Given the description of an element on the screen output the (x, y) to click on. 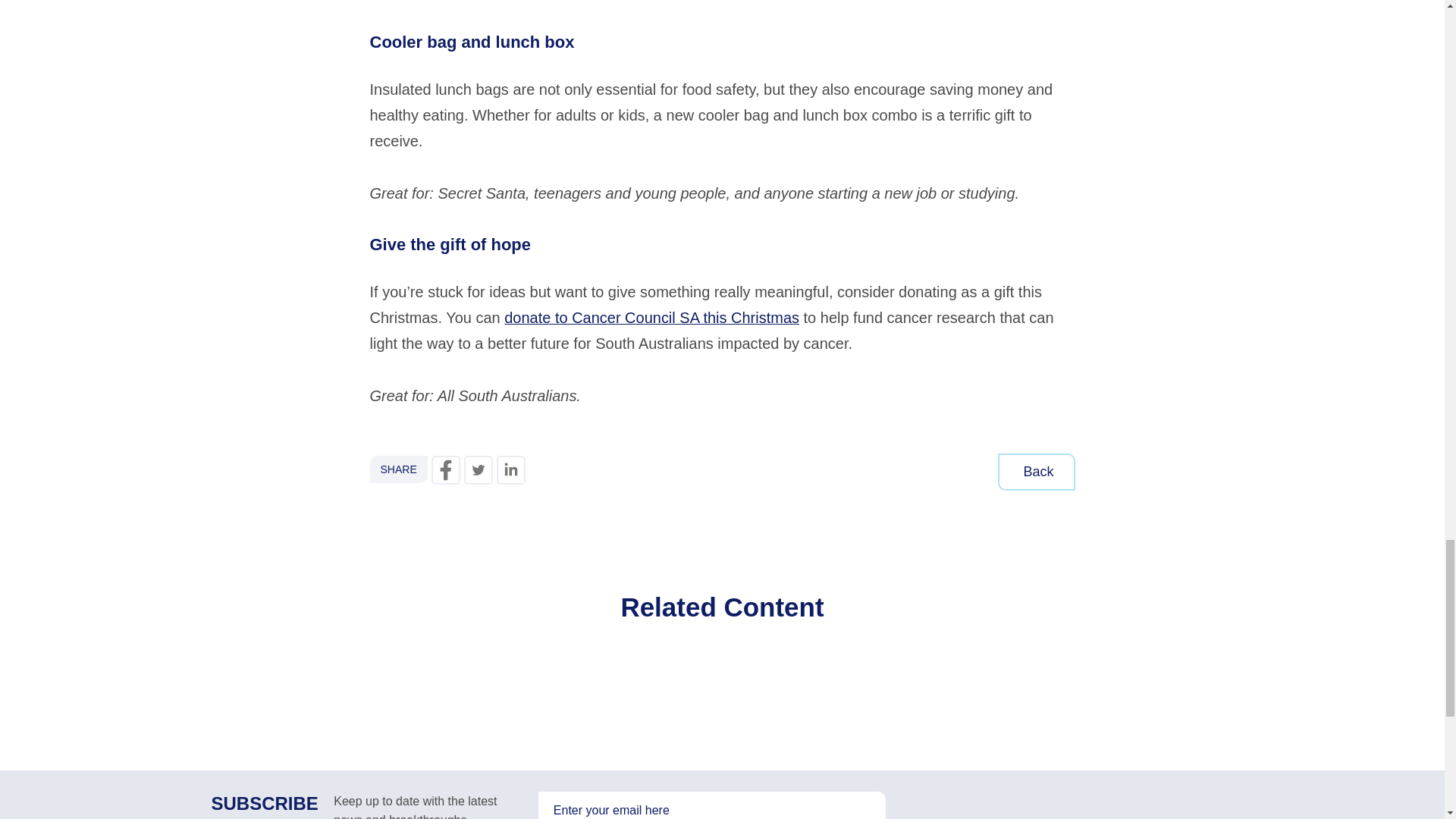
Share on Twitter (478, 469)
Share on LinkedIn (510, 469)
Share on Facebook (445, 469)
